Given the description of an element on the screen output the (x, y) to click on. 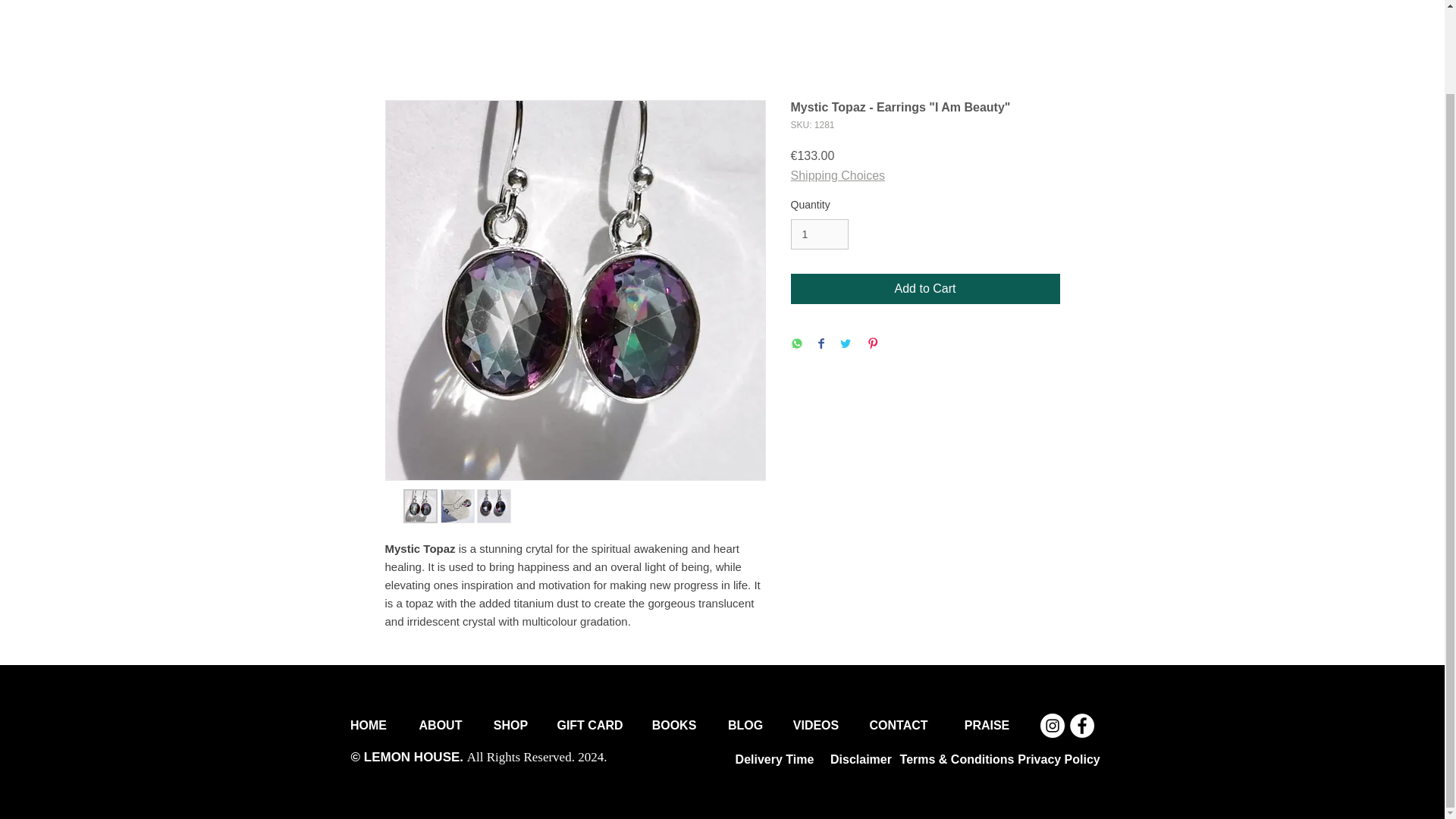
Add to Cart (924, 288)
HOME (368, 725)
Shipping Choices (837, 175)
SHOP (510, 725)
BOOKS (672, 725)
1 (818, 234)
GIFT CARD (590, 725)
ABOUT (440, 725)
